Given the description of an element on the screen output the (x, y) to click on. 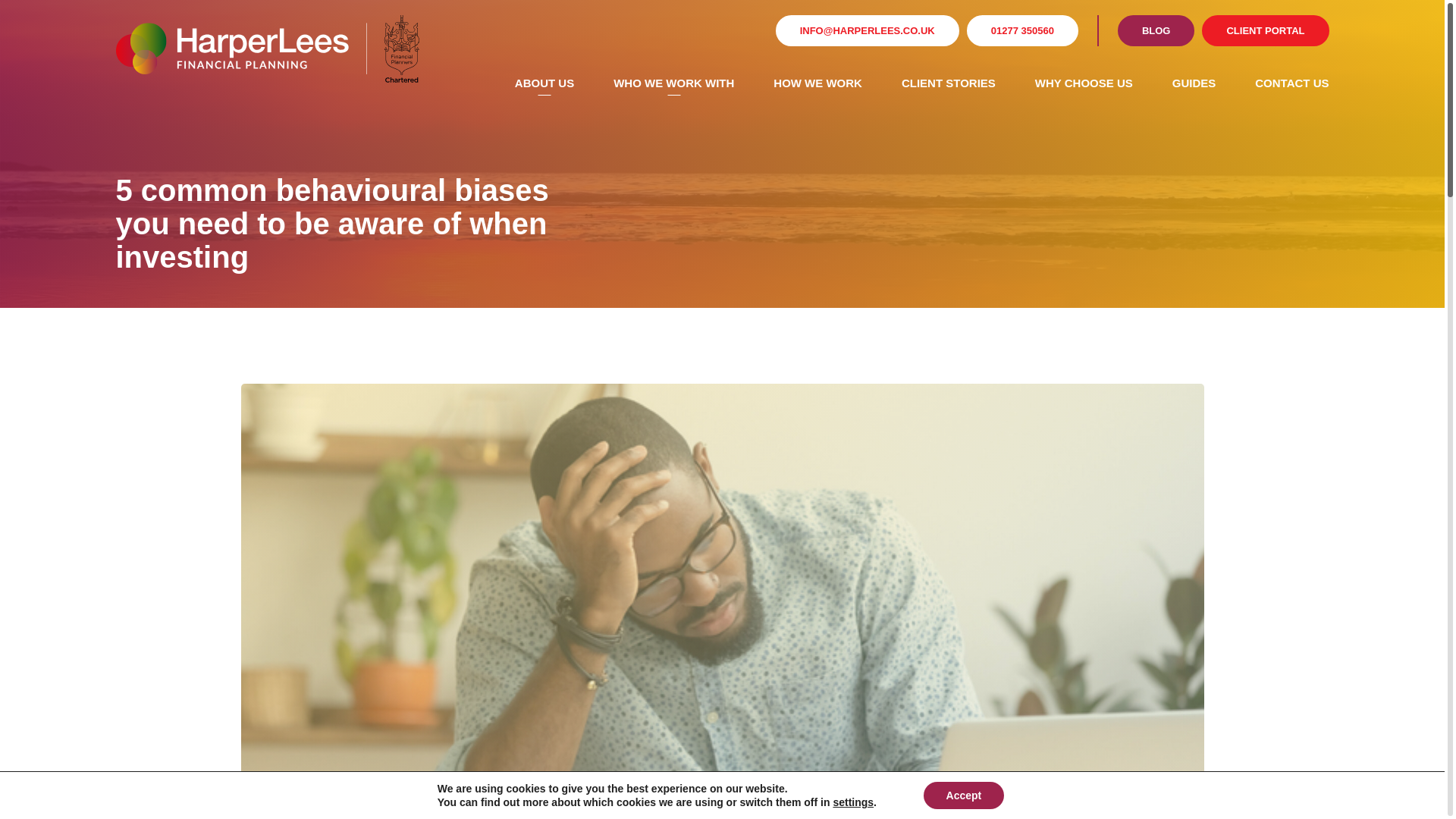
ABOUT US (544, 83)
01277 350560 (1022, 30)
BLOG (1156, 30)
WHO WE WORK WITH (672, 83)
CLIENT PORTAL (1264, 30)
